Given the description of an element on the screen output the (x, y) to click on. 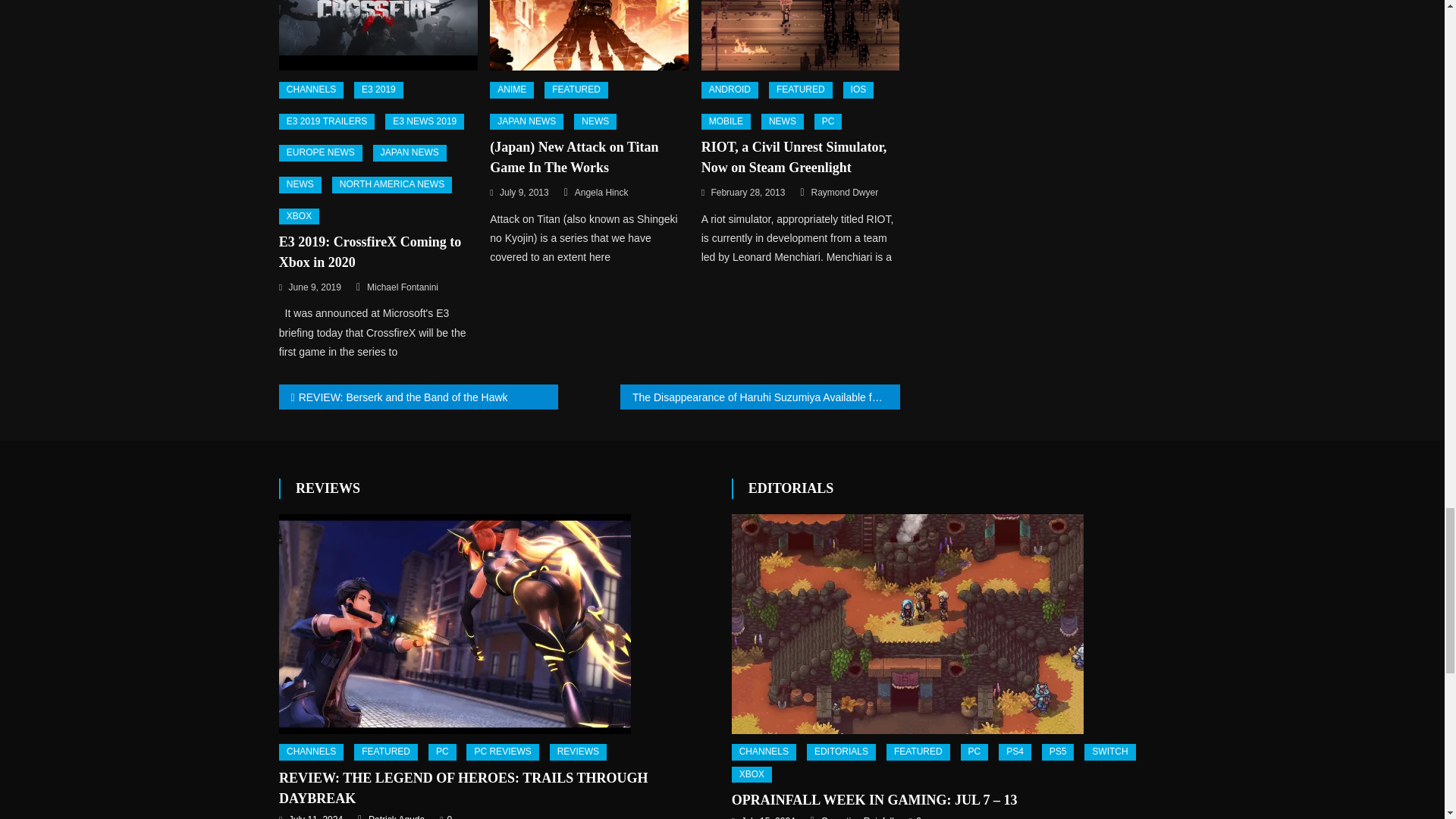
E3 2019: CrossfireX Coming to Xbox in 2020 (378, 35)
